Given the description of an element on the screen output the (x, y) to click on. 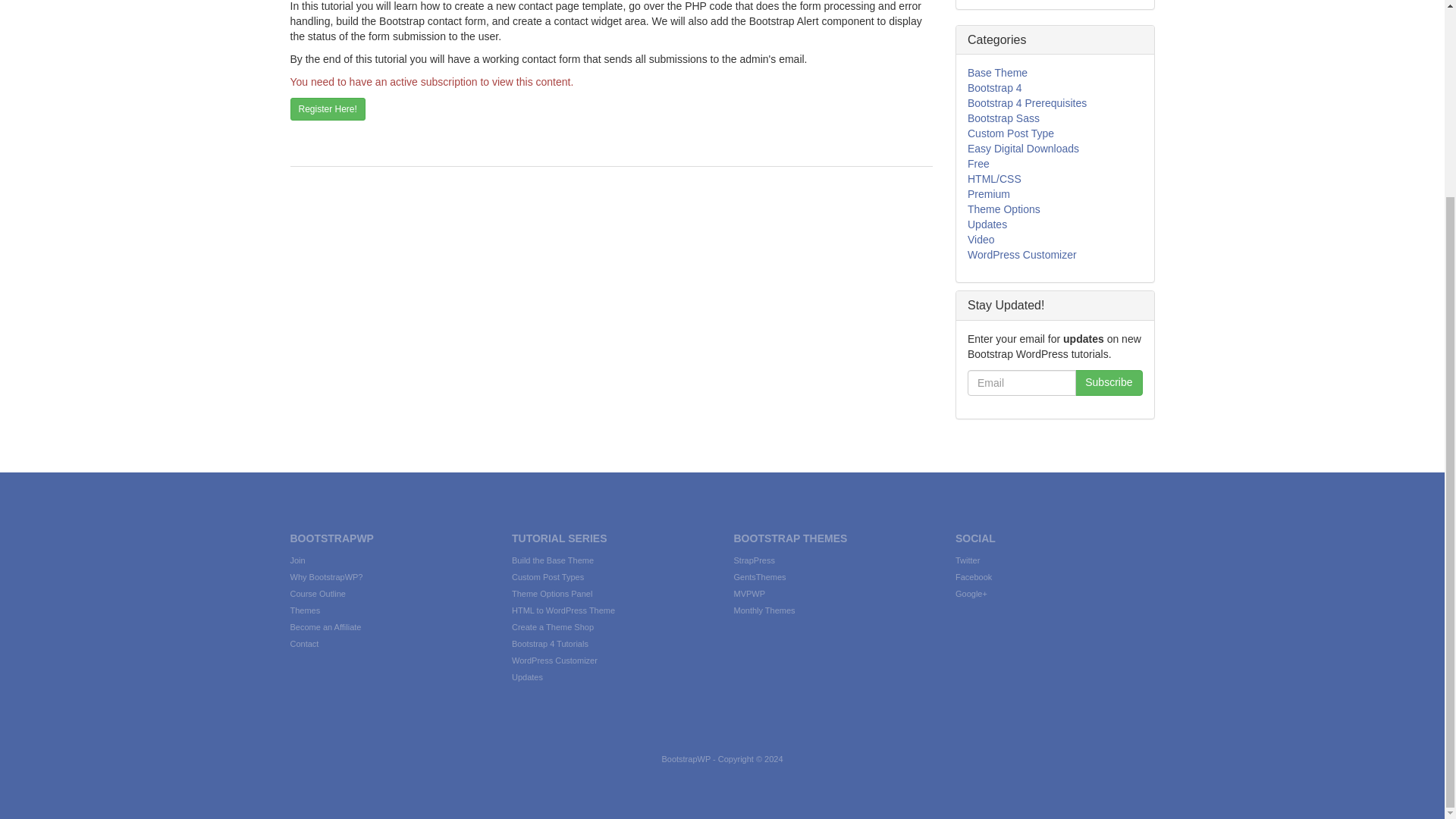
Bootstrap 4 Prerequisites (1027, 102)
Theme Options Panel (552, 593)
HTML to WordPress Theme (563, 610)
Subscribe (1108, 382)
Build the Base Theme (553, 560)
Themes (304, 610)
Base Theme (997, 72)
Subscribe (1108, 382)
Why BootstrapWP? (325, 576)
Join (296, 560)
